Given the description of an element on the screen output the (x, y) to click on. 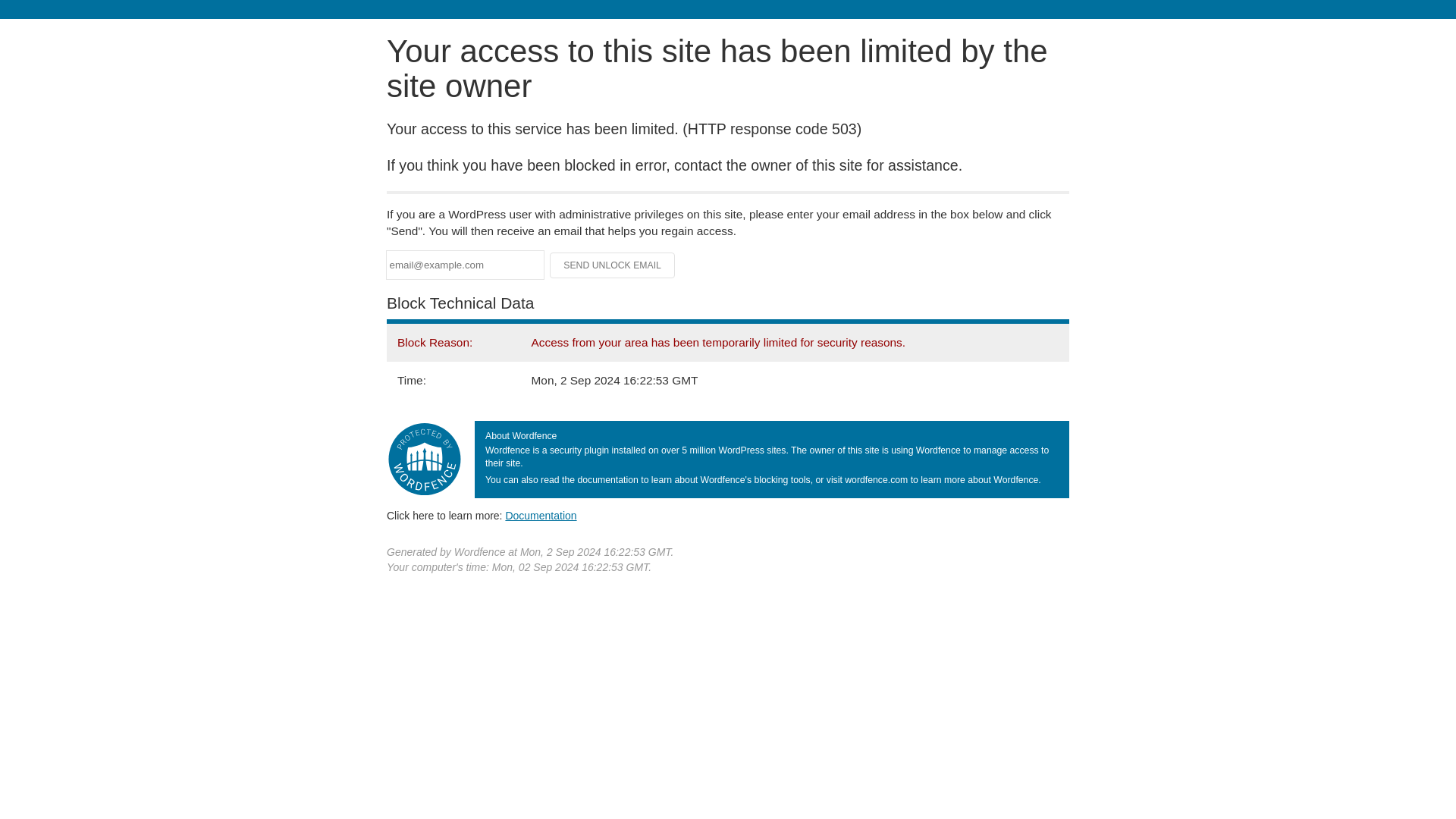
Send Unlock Email (612, 265)
Send Unlock Email (612, 265)
Documentation (540, 515)
